Given the description of an element on the screen output the (x, y) to click on. 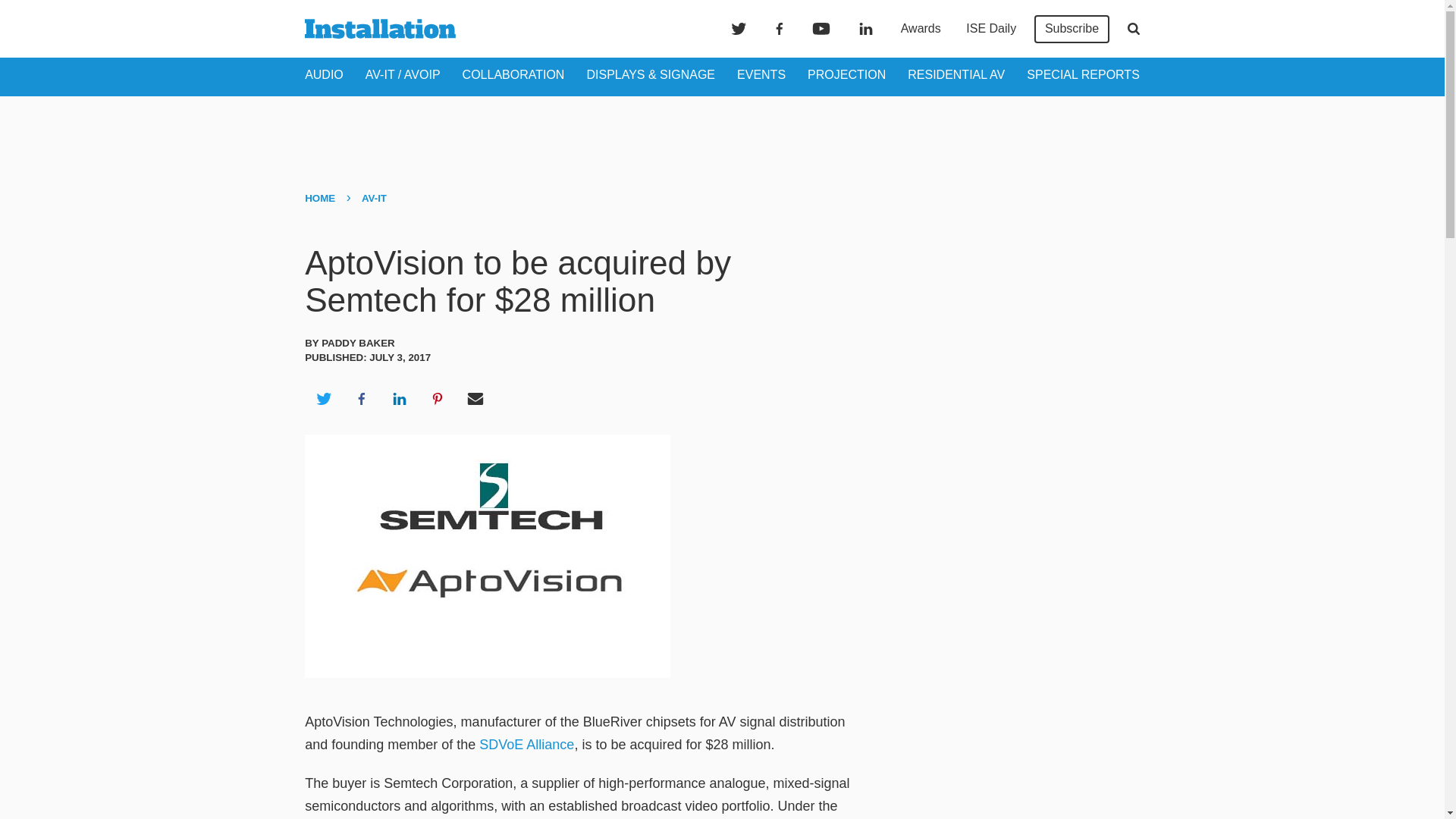
Subscribe (1071, 29)
AUDIO (323, 74)
ISE Daily (990, 29)
Share on Pinterest (438, 398)
Awards (921, 29)
Paddy Baker's Author Profile (357, 342)
Share via Email (476, 398)
Share on Twitter (323, 398)
Share on LinkedIn (399, 398)
Share on Facebook (361, 398)
